Given the description of an element on the screen output the (x, y) to click on. 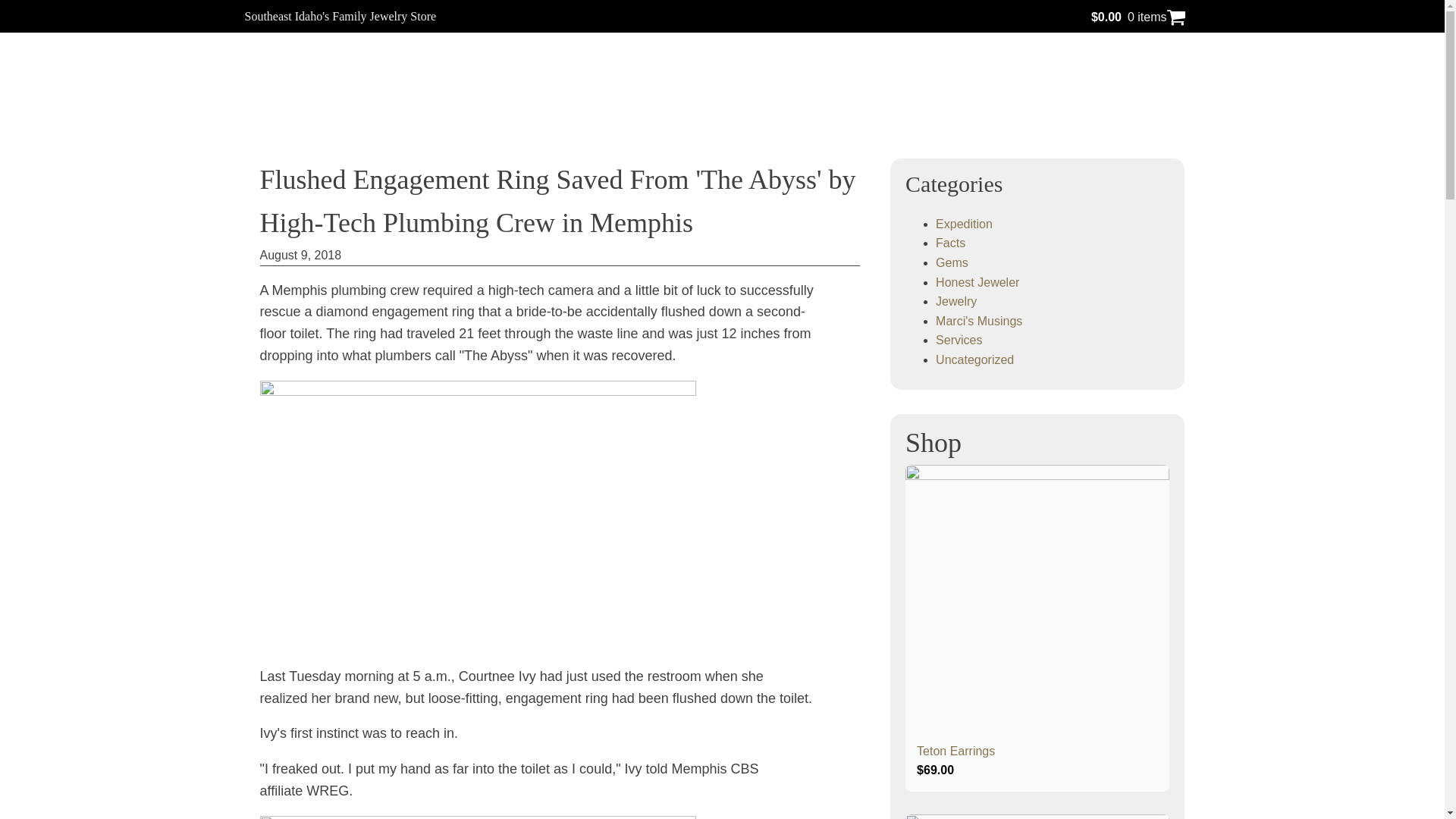
Marci's Musings (979, 320)
Jewelry (956, 300)
Expedition (964, 223)
Honest Jeweler (977, 282)
Facts (950, 242)
Services (958, 339)
Gems (952, 262)
Uncategorized (974, 359)
